Given the description of an element on the screen output the (x, y) to click on. 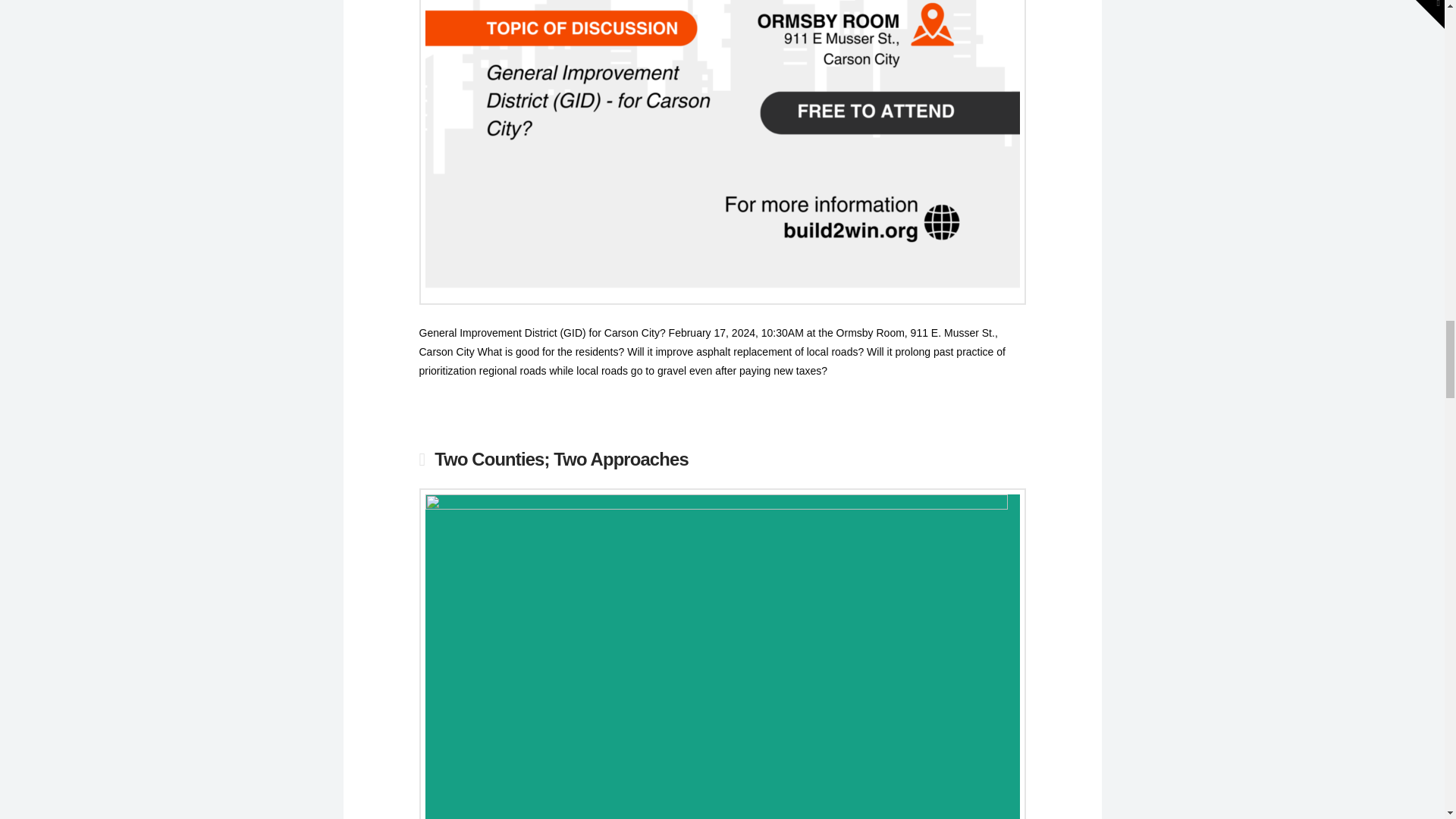
Permalink to: "Two Counties; Two Approaches" (560, 458)
Two Counties; Two Approaches (560, 458)
